Given the description of an element on the screen output the (x, y) to click on. 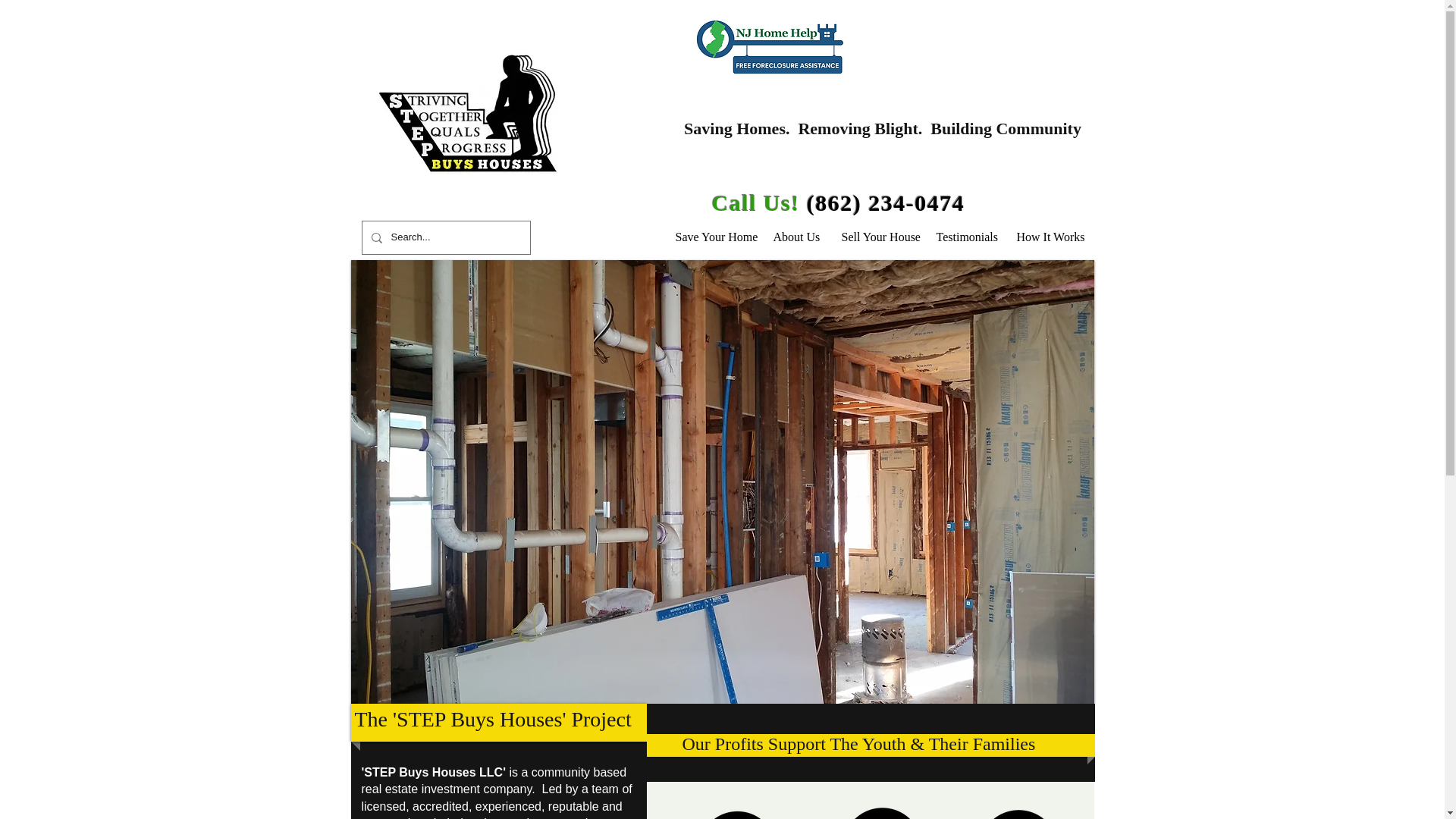
III.png (735, 812)
How It Works (1050, 237)
Sell Your House (876, 237)
Save Your Home (712, 237)
Testimonials (965, 237)
HAND1.png (1018, 814)
Facebook Like (1017, 205)
About Us (795, 237)
LEV.png (881, 813)
